Given the description of an element on the screen output the (x, y) to click on. 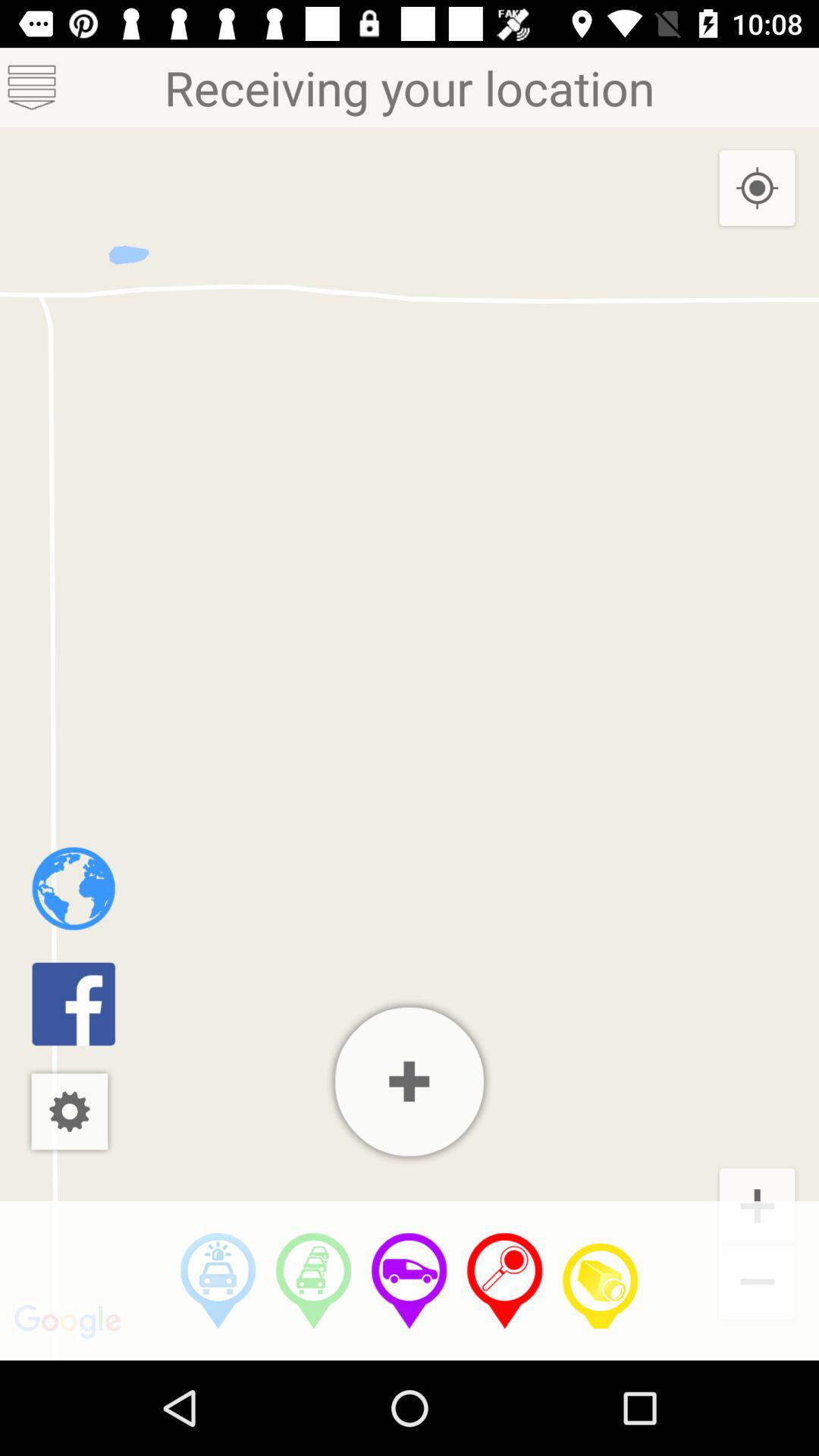
take picture (600, 1280)
